Given the description of an element on the screen output the (x, y) to click on. 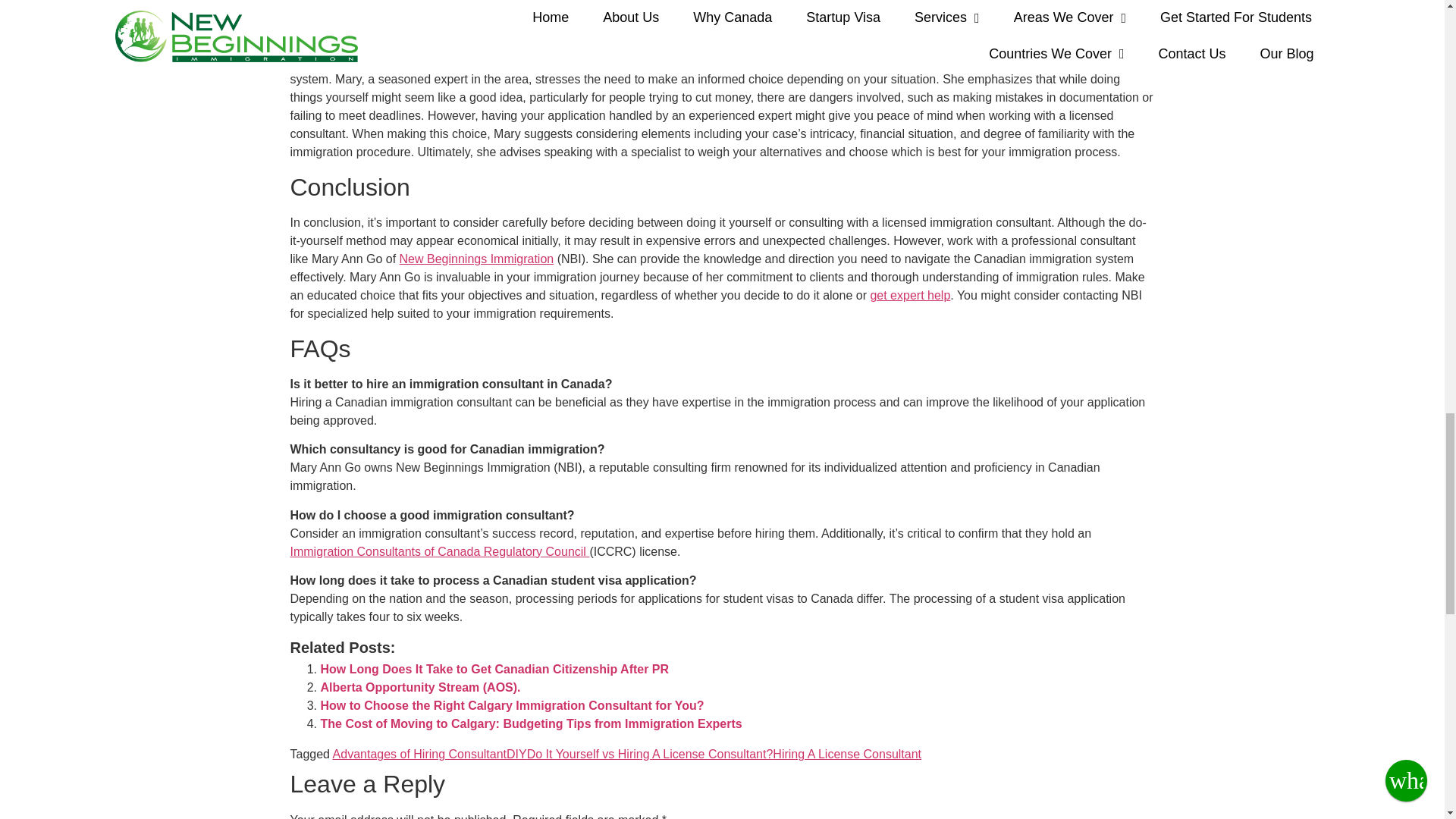
How Long Does It Take to Get Canadian Citizenship After PR (494, 668)
